Given the description of an element on the screen output the (x, y) to click on. 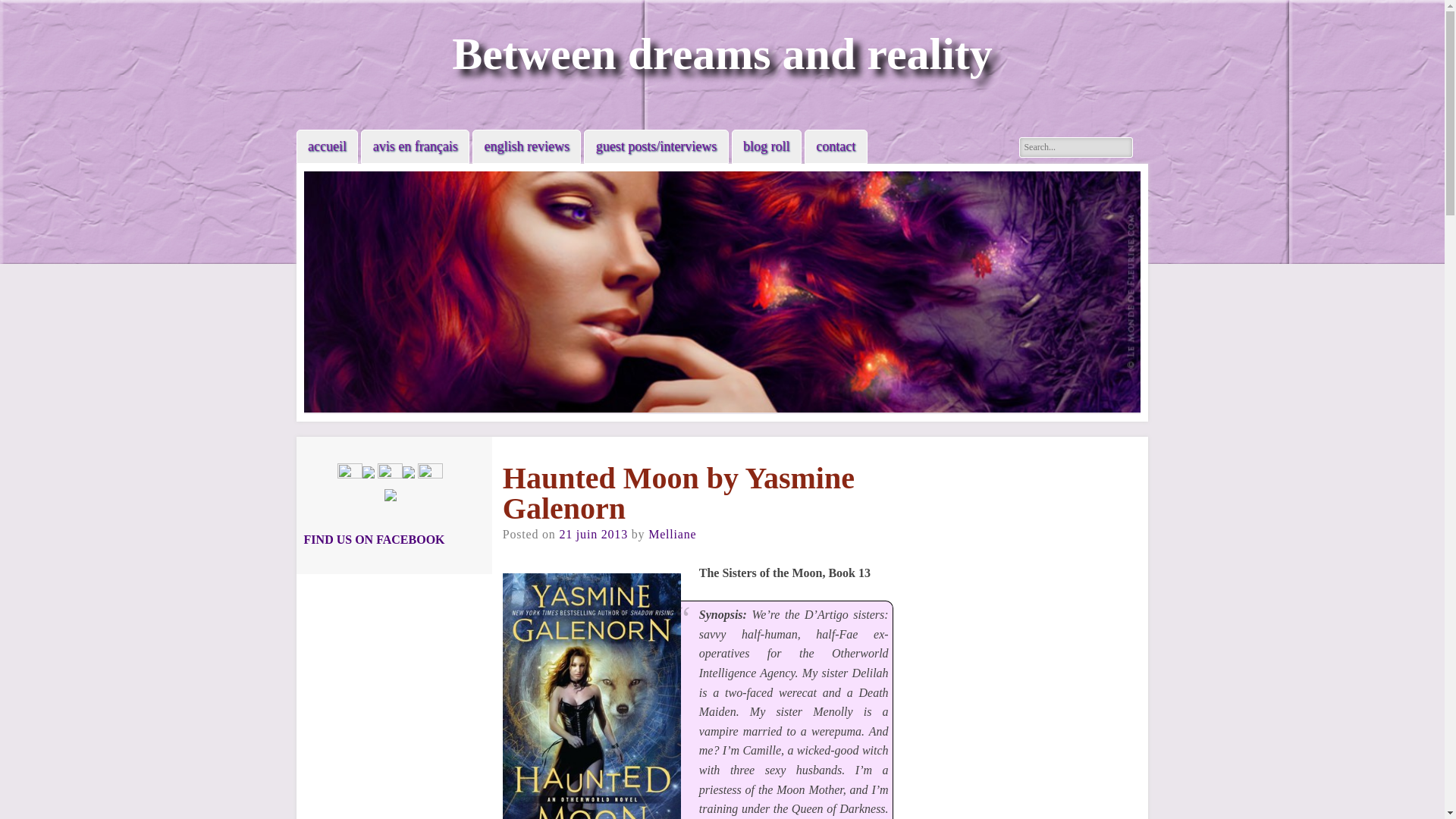
Melliane (671, 533)
21 juin 2013 (593, 533)
Between dreams and reality (721, 53)
blog roll (766, 146)
View all posts by Melliane (671, 533)
contact (835, 146)
accueil (327, 146)
6 h 27 min (593, 533)
Between dreams and reality (721, 53)
Search (24, 9)
